Given the description of an element on the screen output the (x, y) to click on. 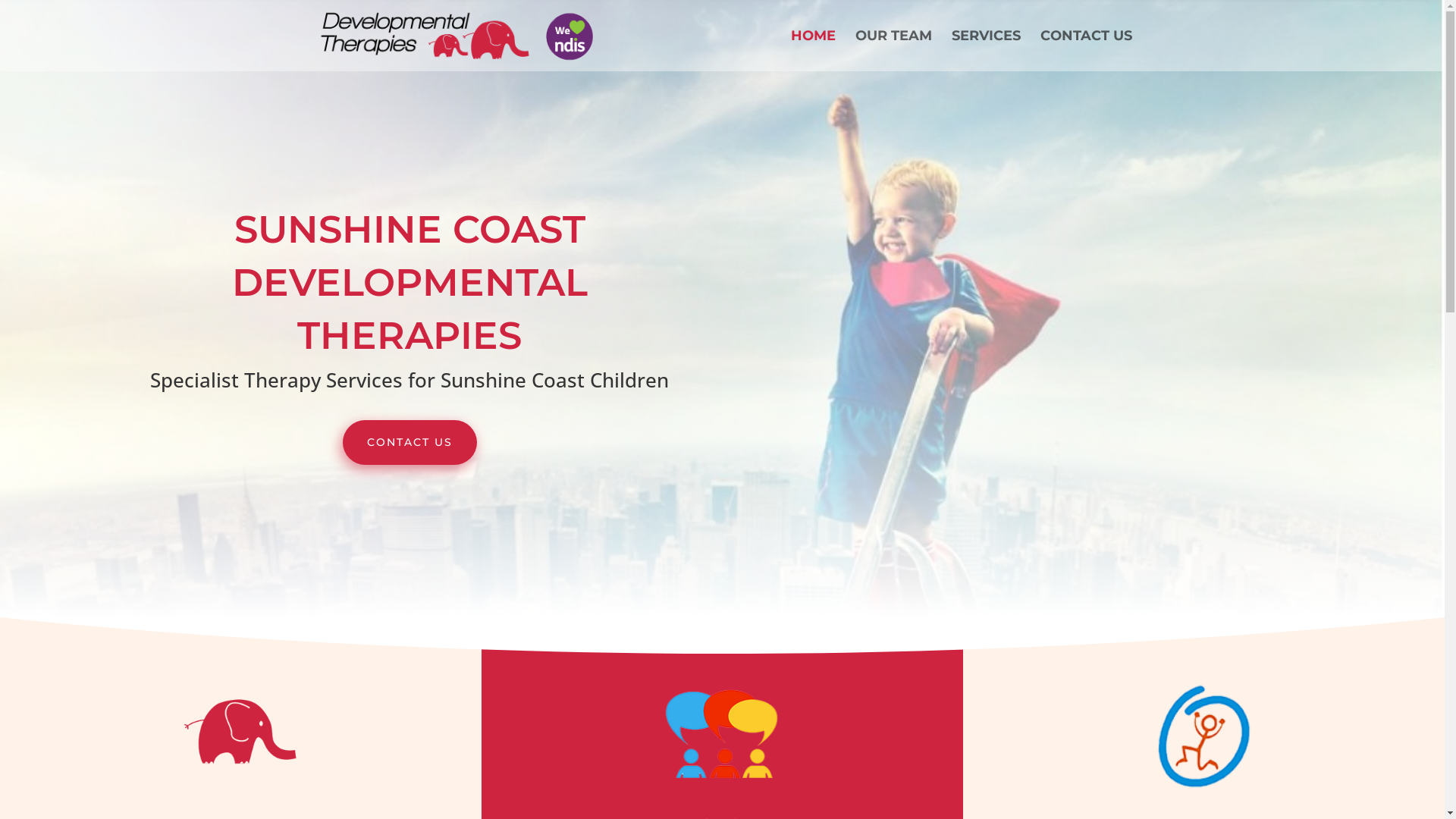
CONTACT US Element type: text (1086, 50)
CONTACT US Element type: text (409, 442)
OUR TEAM Element type: text (893, 50)
SERVICES Element type: text (984, 50)
HOME Element type: text (812, 50)
